Given the description of an element on the screen output the (x, y) to click on. 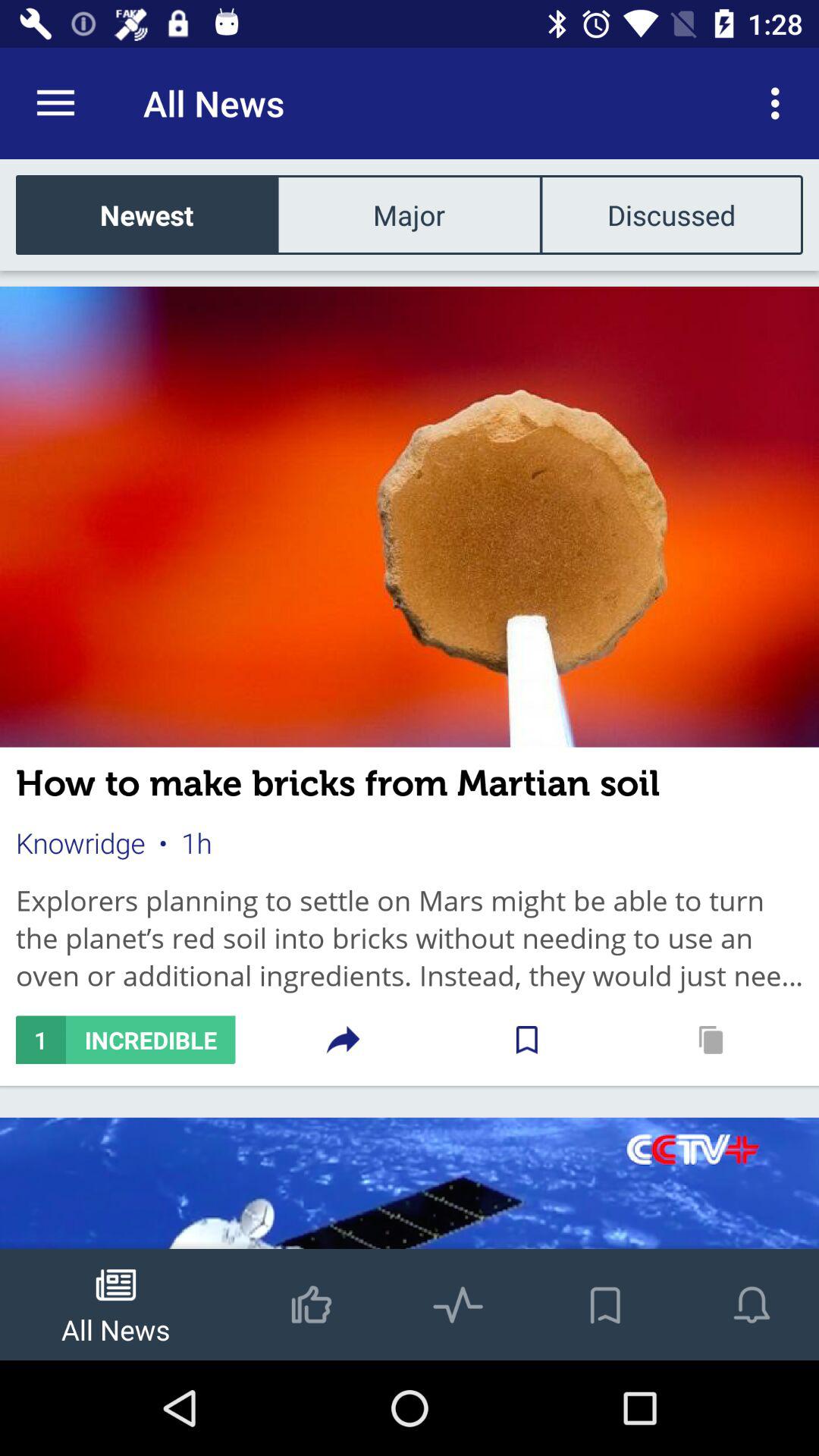
tap the item next to the major (671, 214)
